Given the description of an element on the screen output the (x, y) to click on. 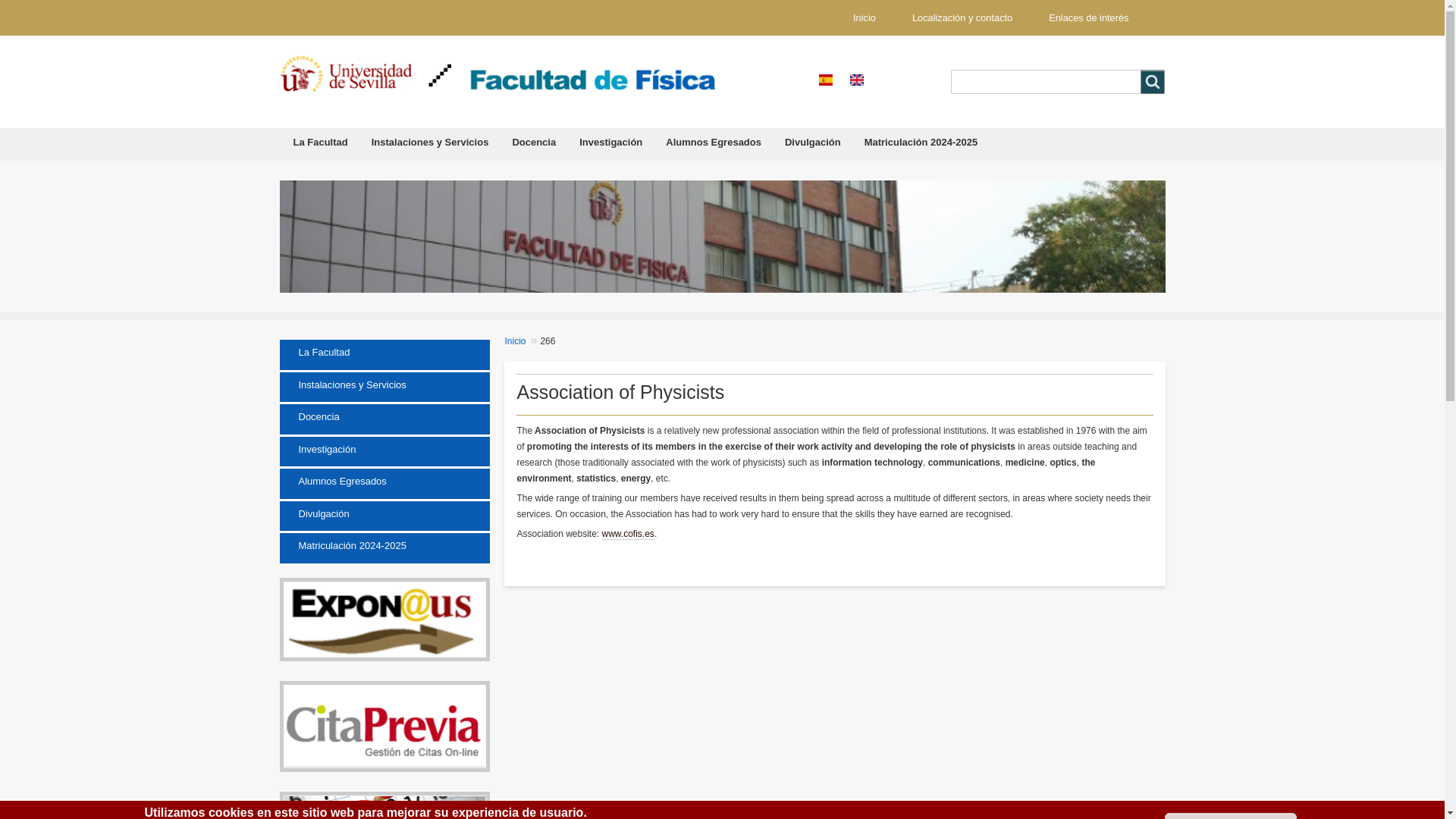
Escriba lo que quiere buscar. (1057, 81)
Instalaciones y Servicios (430, 146)
English (856, 79)
Inicio (864, 17)
Inicio (584, 78)
Search in this site: (1152, 81)
Search in this site: (1152, 81)
La Facultad (320, 146)
Search in this site: (1152, 81)
Spanish (825, 79)
